Given the description of an element on the screen output the (x, y) to click on. 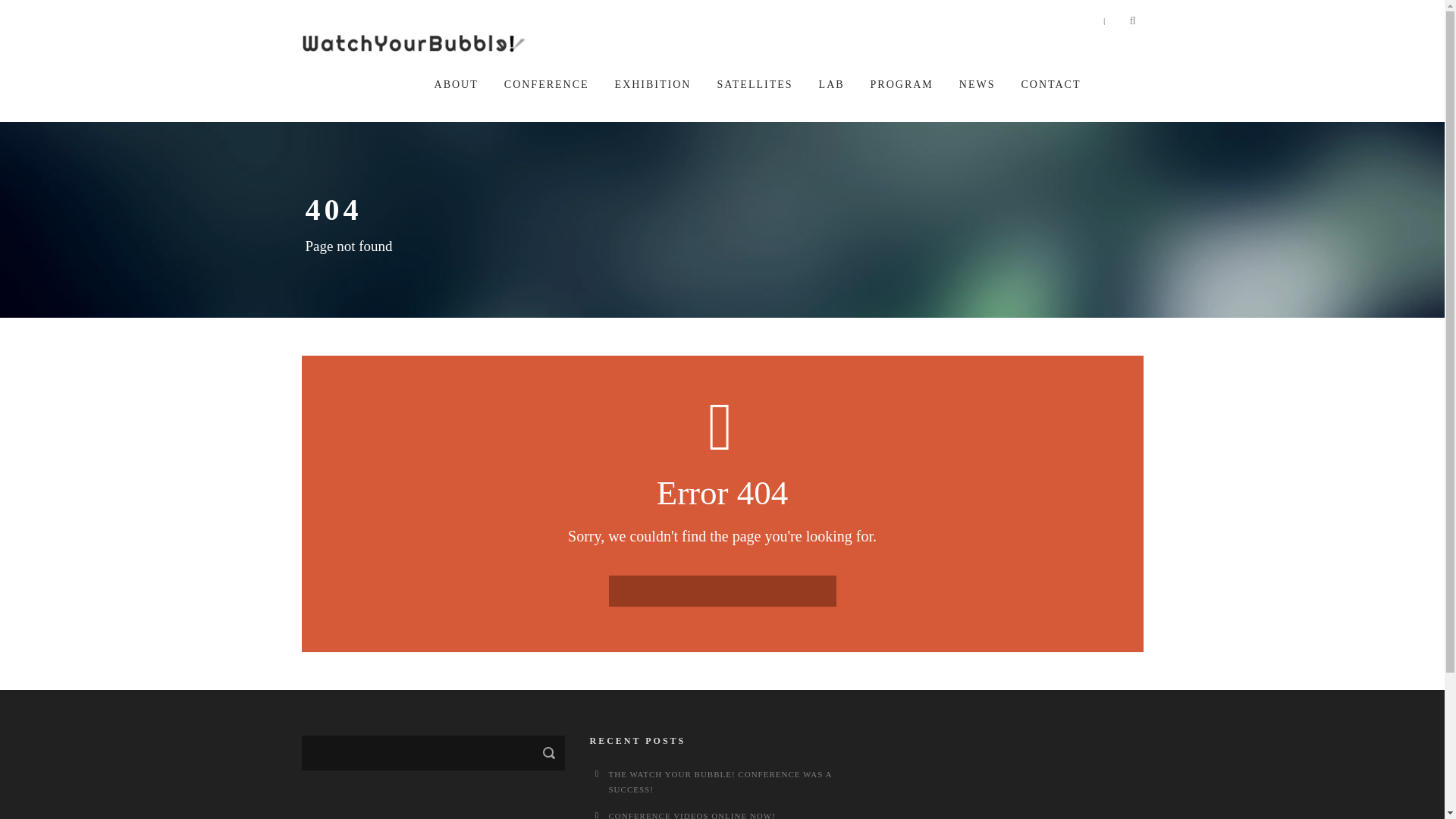
ABOUT (456, 99)
CONTACT (1050, 99)
EXHIBITION (652, 99)
PROGRAM (901, 99)
THE WATCH YOUR BUBBLE! CONFERENCE WAS A SUCCESS! (719, 781)
CONFERENCE VIDEOS ONLINE NOW! (691, 815)
CONFERENCE (546, 99)
SATELLITES (754, 99)
